Given the description of an element on the screen output the (x, y) to click on. 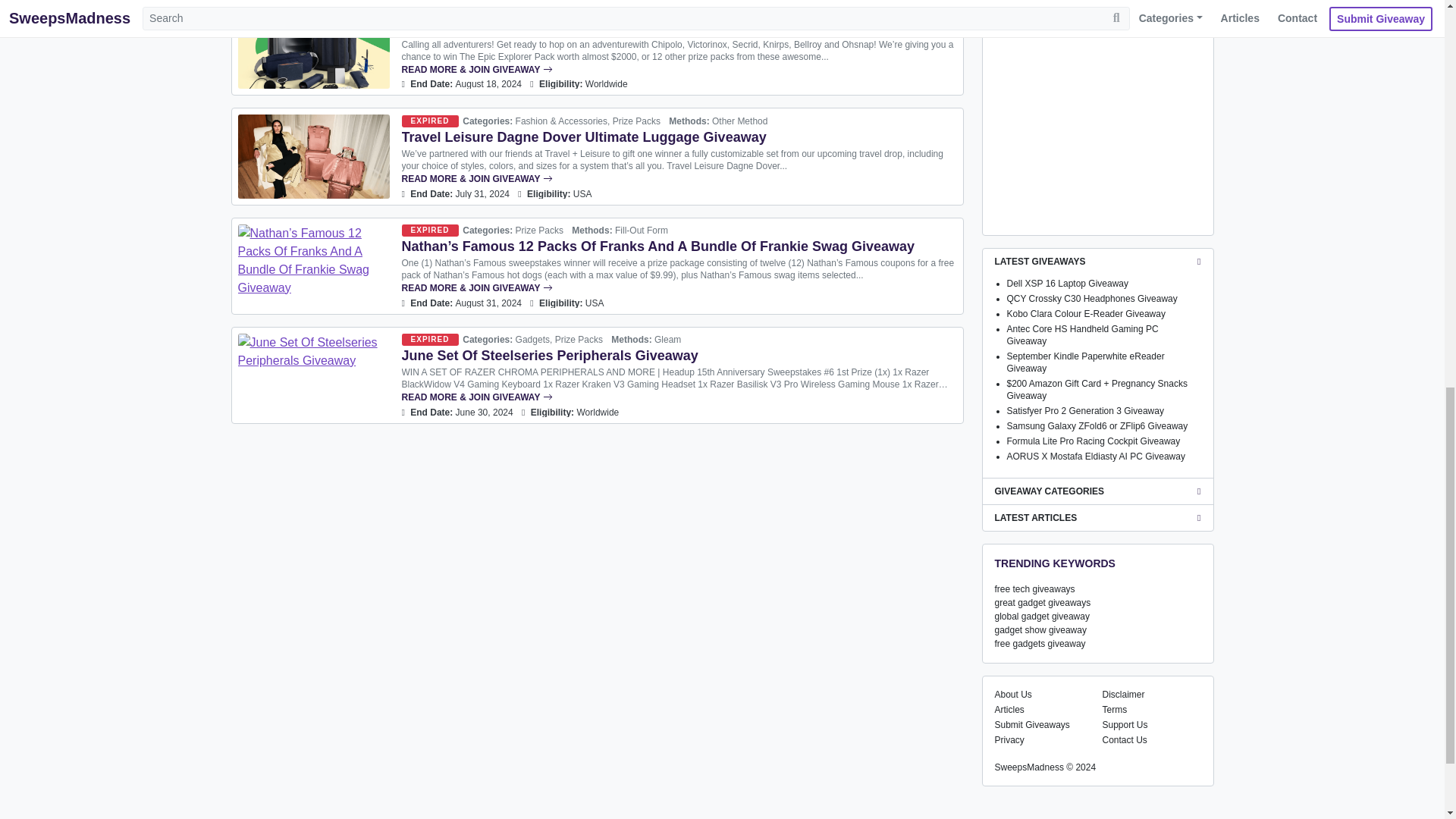
Travel Leisure Dagne Dover Ultimate Luggage Giveaway (584, 136)
Chipolos Adventure Giveaway (498, 28)
Chipolos Adventure Giveaway (314, 46)
Travel Leisure Dagne Dover Ultimate Luggage Giveaway (314, 156)
Chipolos Adventure Giveaway (678, 69)
